Given the description of an element on the screen output the (x, y) to click on. 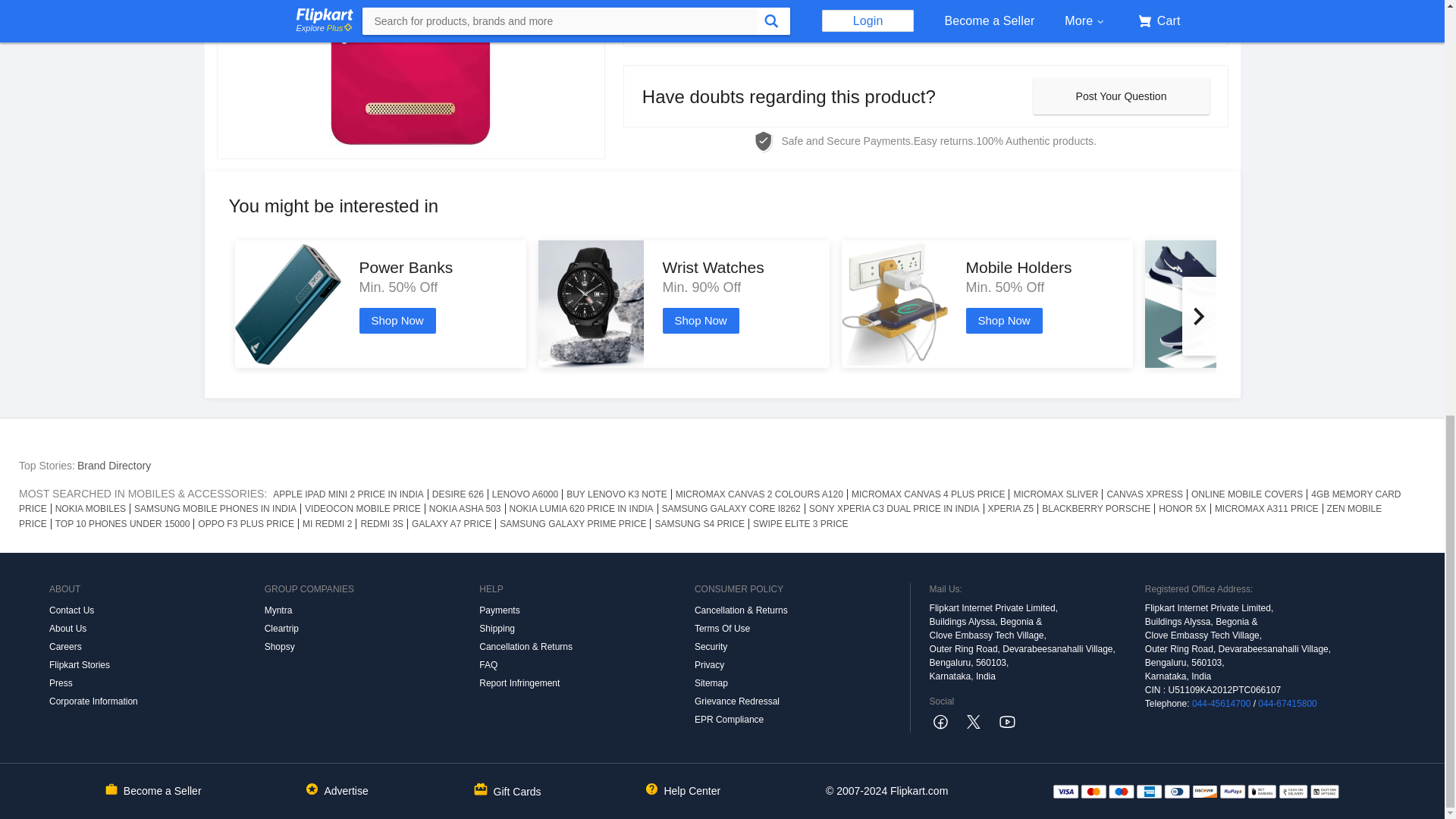
Myntra (372, 610)
ONLINE MOBILE COVERS (1247, 493)
MICROMAX SLIVER (1055, 493)
Shop Now (397, 320)
Post Your Question (1120, 95)
OPPO F3 PLUS PRICE (245, 523)
Brand Directory (114, 465)
Shop Now (700, 320)
SONY XPERIA C3 DUAL PRICE IN INDIA (894, 508)
Read More (925, 22)
NOKIA MOBILES (90, 508)
XPERIA Z5 (1011, 508)
BUY LENOVO K3 NOTE (616, 493)
LENOVO A6000 (524, 493)
SAMSUNG MOBILE PHONES IN INDIA (216, 508)
